Given the description of an element on the screen output the (x, y) to click on. 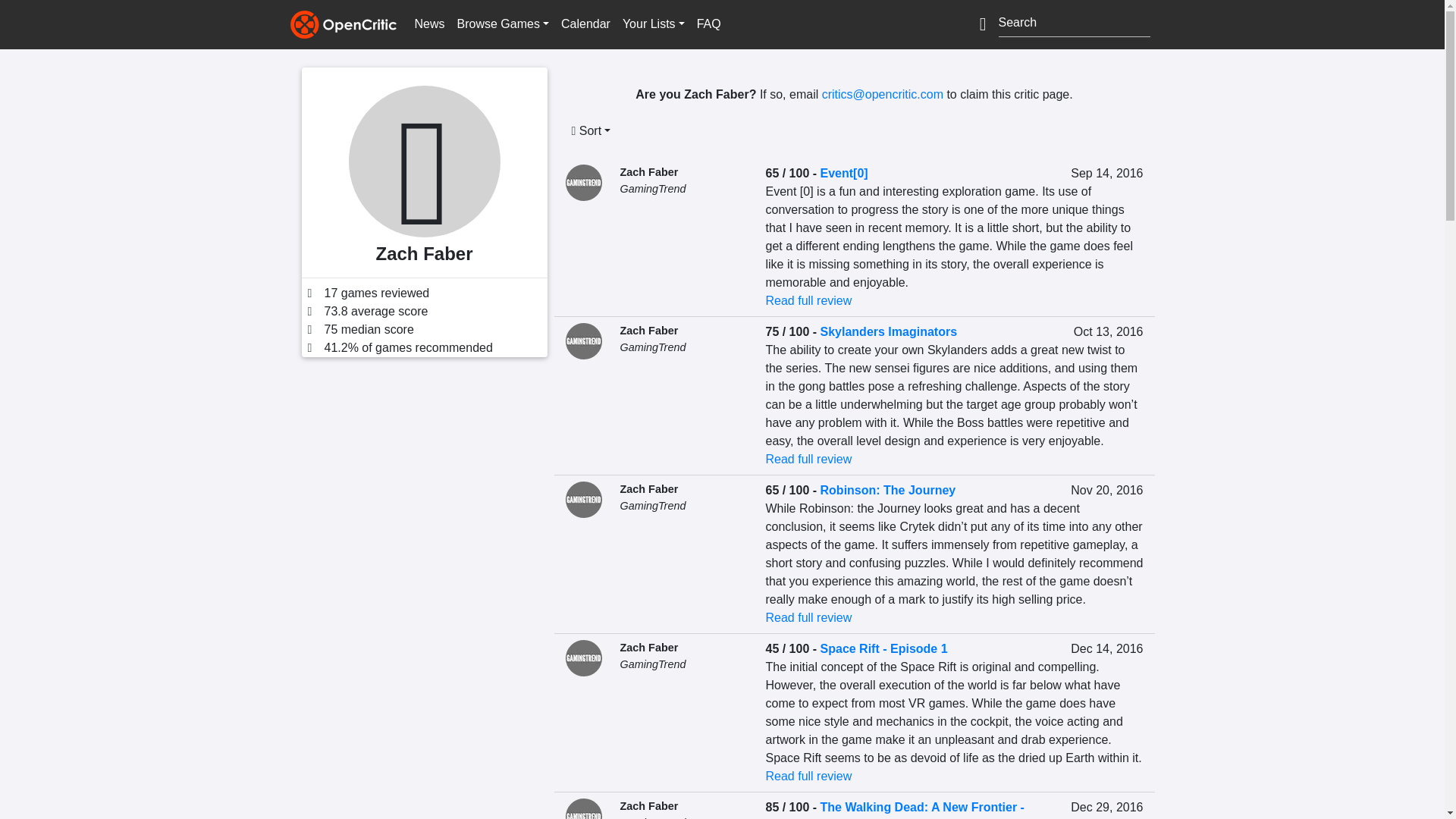
Browse Games (502, 24)
Zach Faber (649, 172)
GamingTrend (652, 505)
Skylanders Imaginators (889, 331)
Zach Faber (649, 330)
Read full review (808, 459)
FAQ (708, 24)
News (428, 24)
Zach Faber (649, 489)
Robinson: The Journey (888, 490)
GamingTrend (652, 346)
Calendar (584, 24)
Read full review (808, 300)
Your Lists (652, 24)
GamingTrend (652, 188)
